Given the description of an element on the screen output the (x, y) to click on. 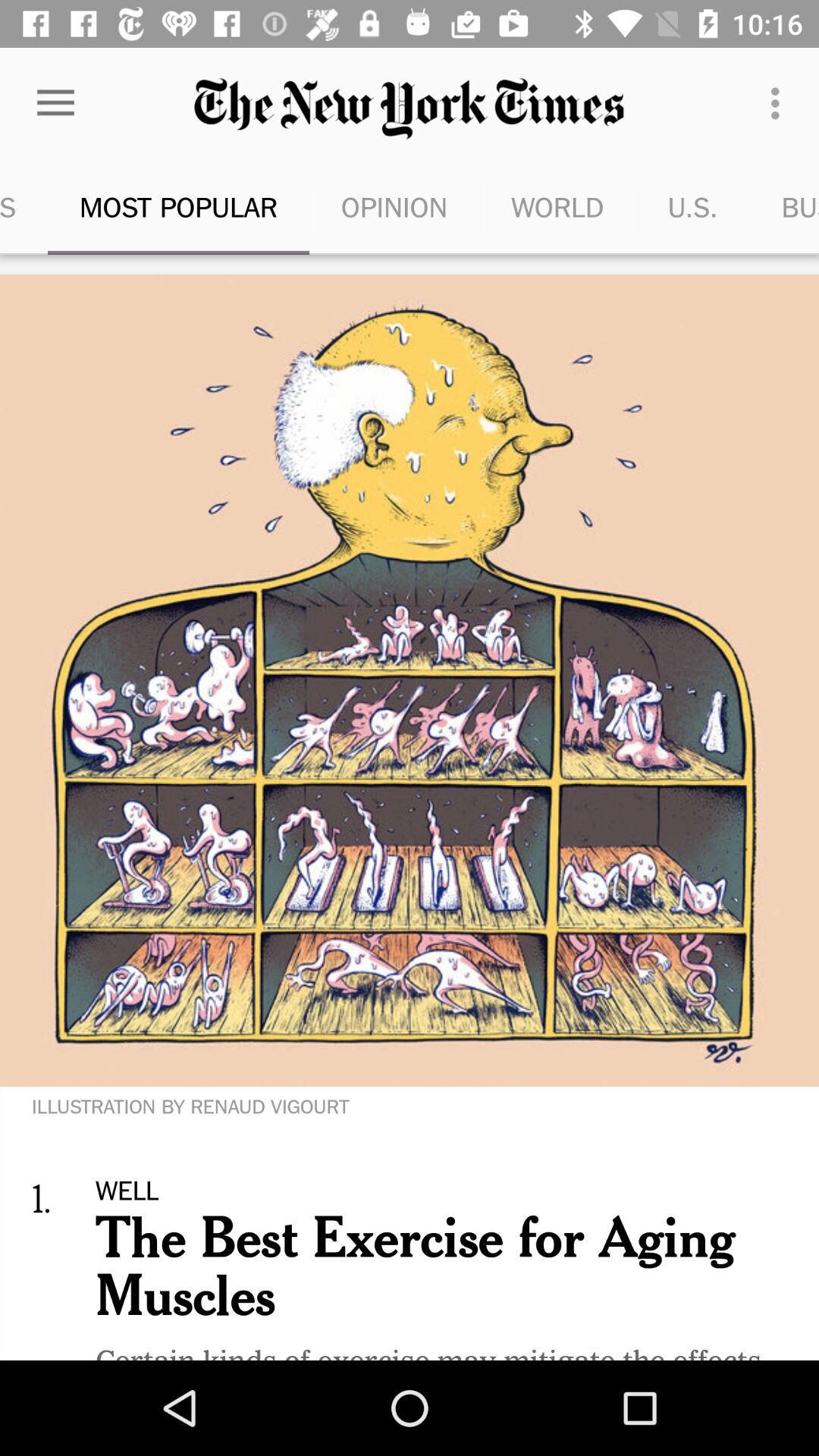
open the opinion icon (394, 206)
